Given the description of an element on the screen output the (x, y) to click on. 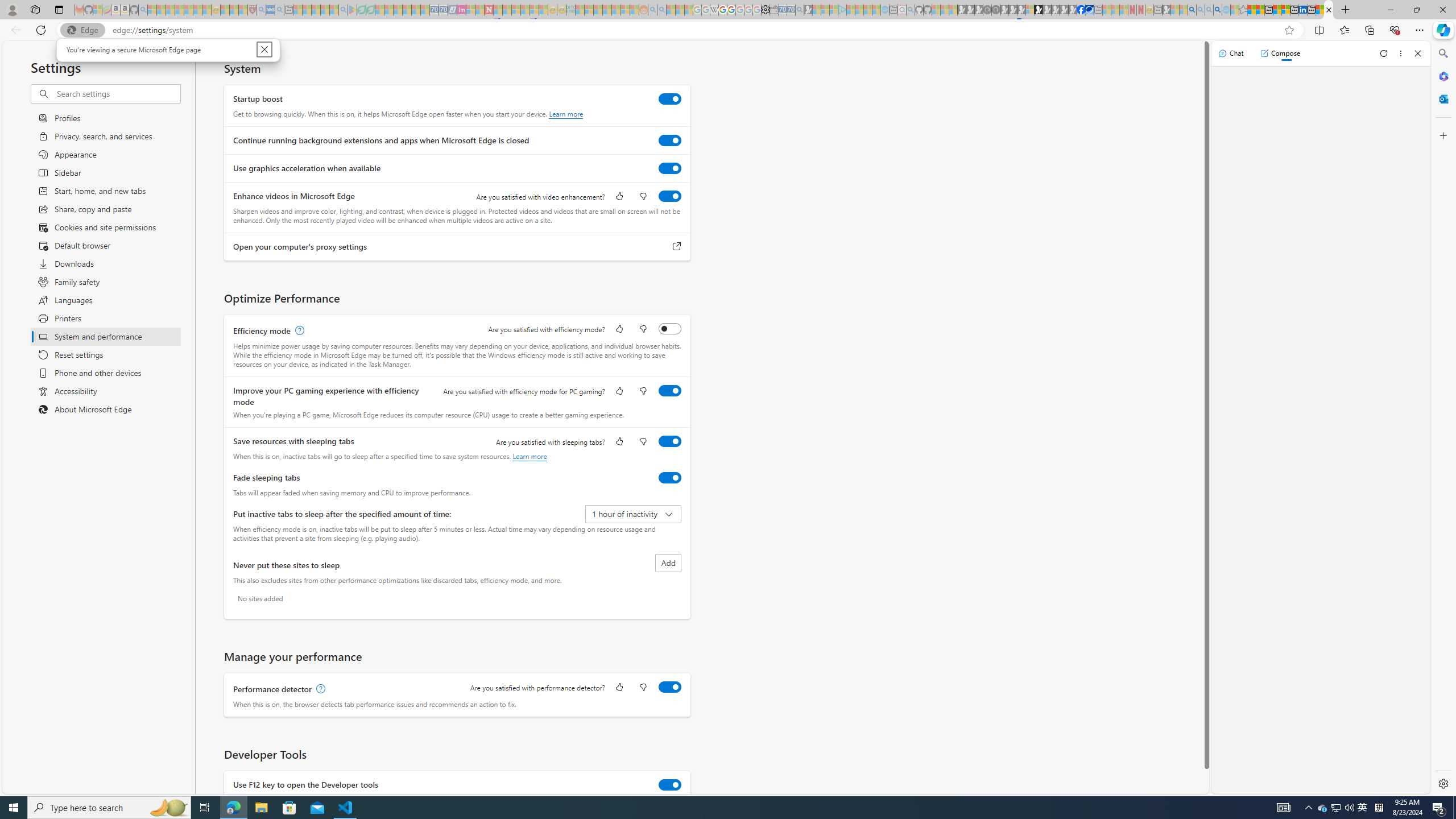
Save resources with sleeping tabs (669, 441)
Like (619, 687)
Sign in to your account - Sleeping (1029, 9)
Improve your PC gaming experience with efficiency mode (669, 390)
Enhance videos in Microsoft Edge (1322, 807)
Visual Studio Code - 1 running window (669, 196)
